Given the description of an element on the screen output the (x, y) to click on. 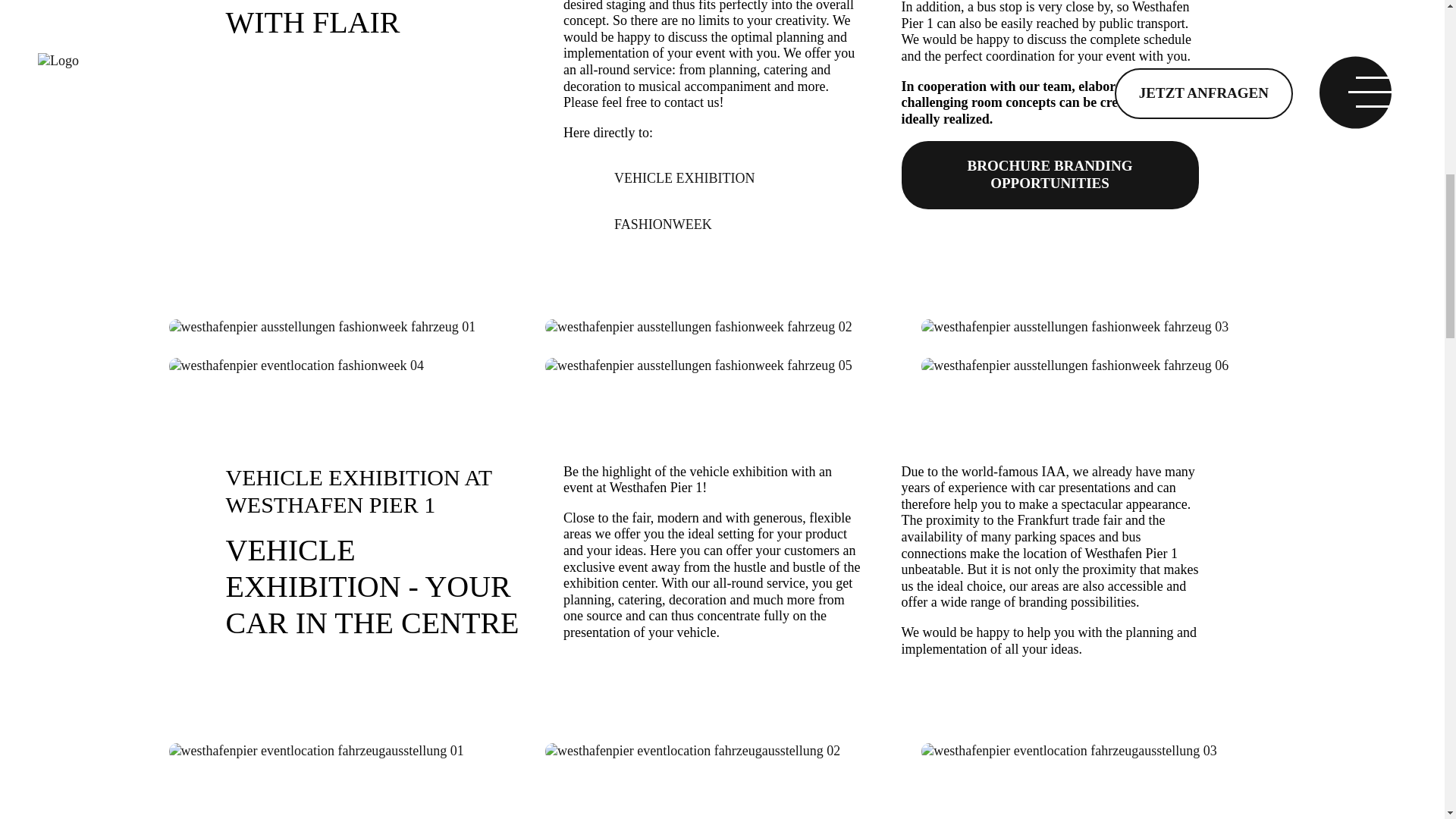
BROCHURE BRANDING OPPORTUNITIES (1049, 183)
FASHIONWEEK (662, 224)
VEHICLE EXHIBITION (684, 177)
